Given the description of an element on the screen output the (x, y) to click on. 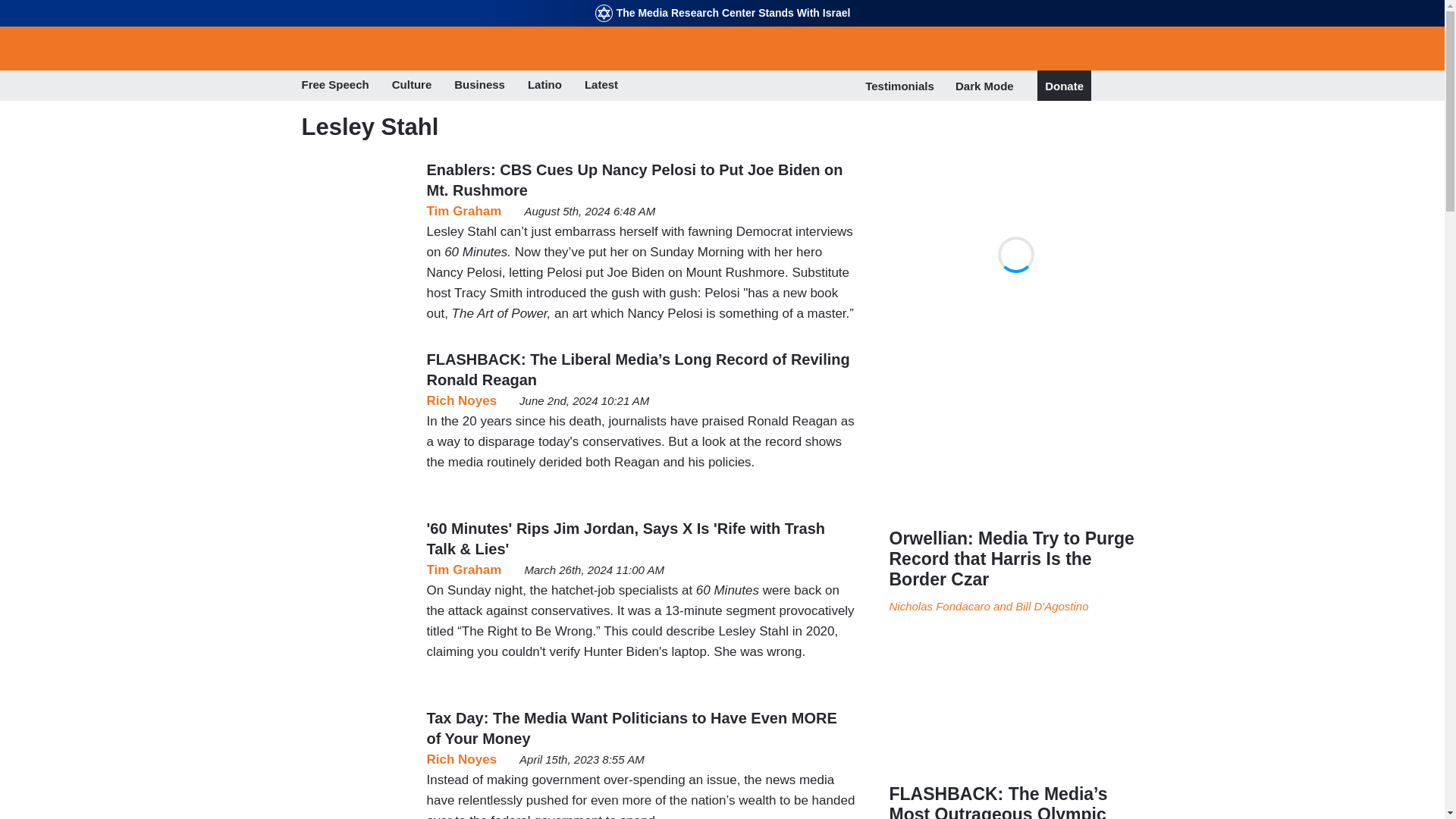
Testimonials (899, 85)
Donate (1064, 86)
Free Speech (335, 85)
Latest (601, 85)
Skip to main content (721, 1)
Culture (411, 85)
Dark Mode (984, 85)
Latino (544, 85)
Business (479, 85)
